Given the description of an element on the screen output the (x, y) to click on. 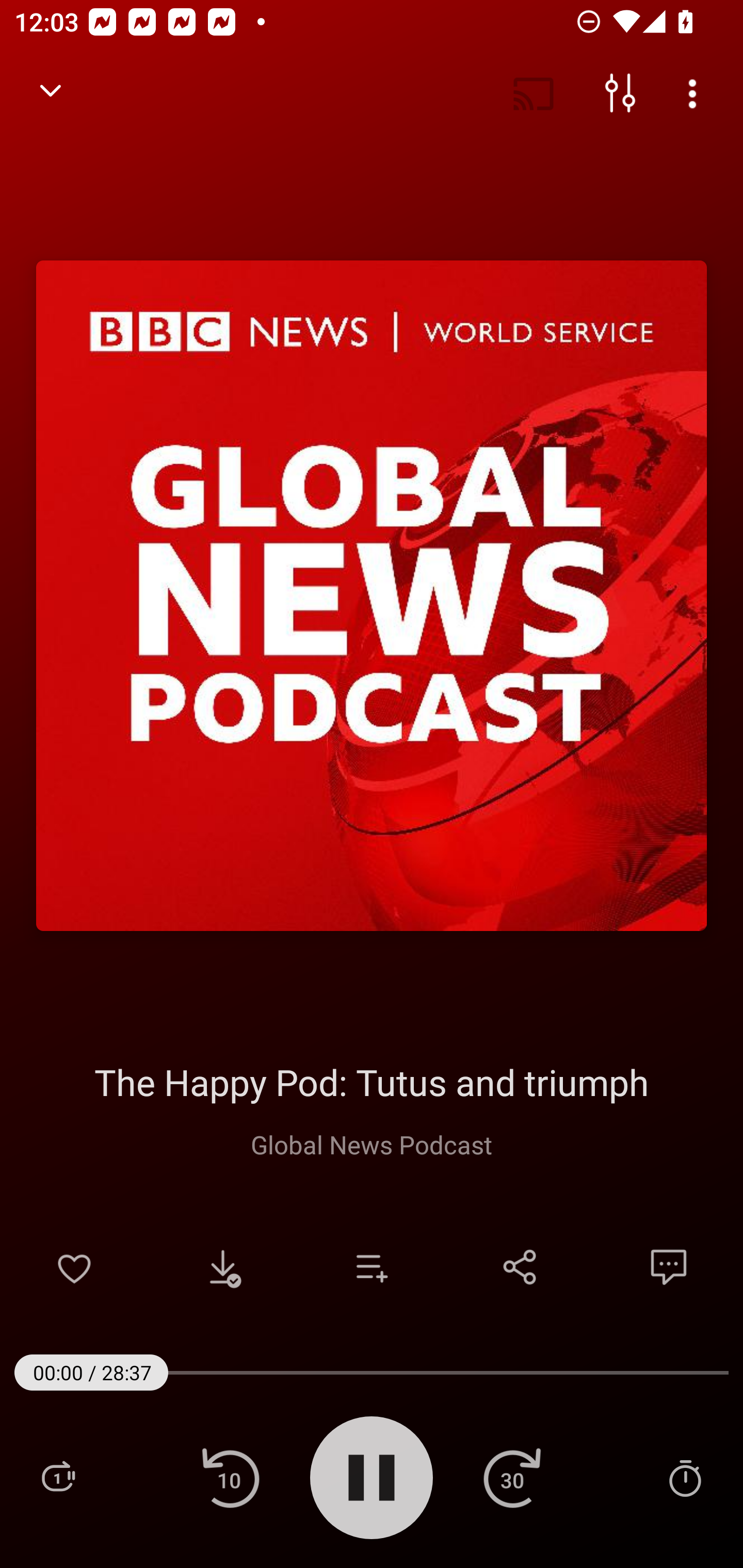
Cast. Disconnected (533, 93)
 Back (50, 94)
The Happy Pod: Tutus and triumph (371, 1081)
Global News Podcast (371, 1144)
Comments (668, 1266)
Add to Favorites (73, 1266)
Add to playlist (371, 1266)
Share (519, 1266)
 Playlist (57, 1477)
Sleep Timer  (684, 1477)
